Given the description of an element on the screen output the (x, y) to click on. 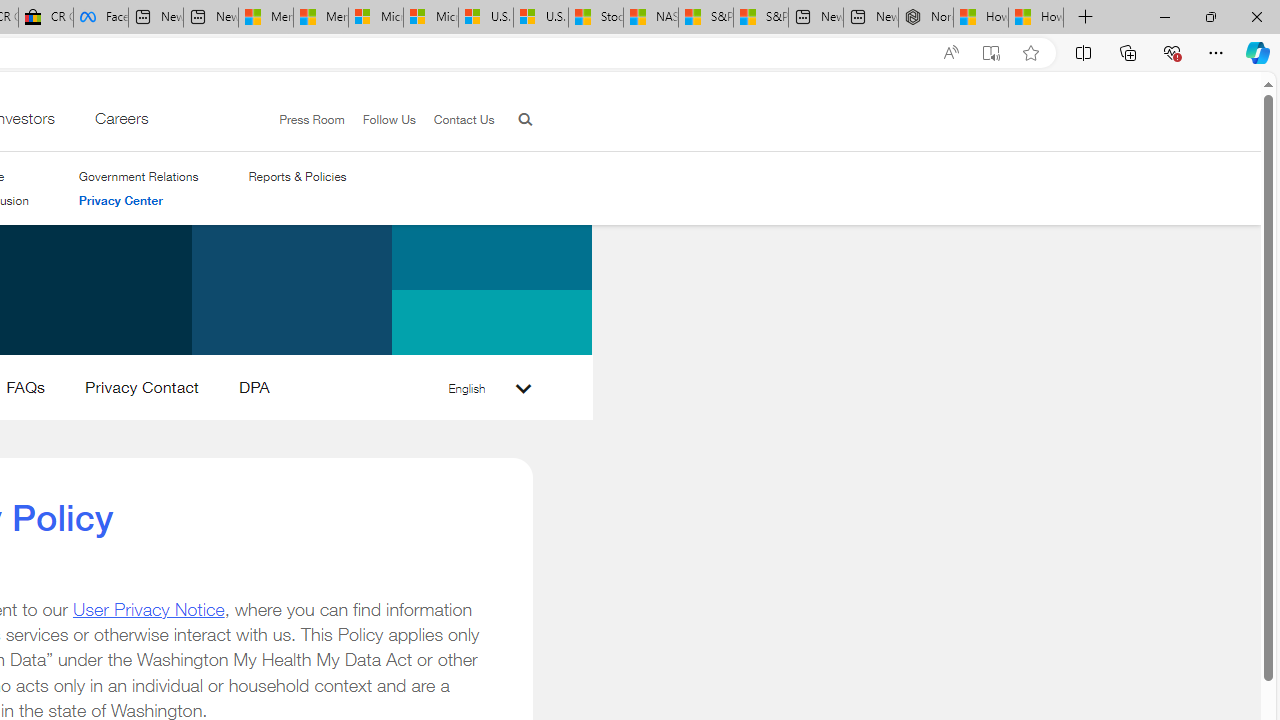
Follow Us (389, 119)
Follow Us (380, 120)
Government Relations (138, 176)
Privacy Contact (141, 391)
S&P 500, Nasdaq end lower, weighed by Nvidia dip | Watch (760, 17)
Careers (120, 123)
Press Room (303, 120)
Careers (120, 123)
